Given the description of an element on the screen output the (x, y) to click on. 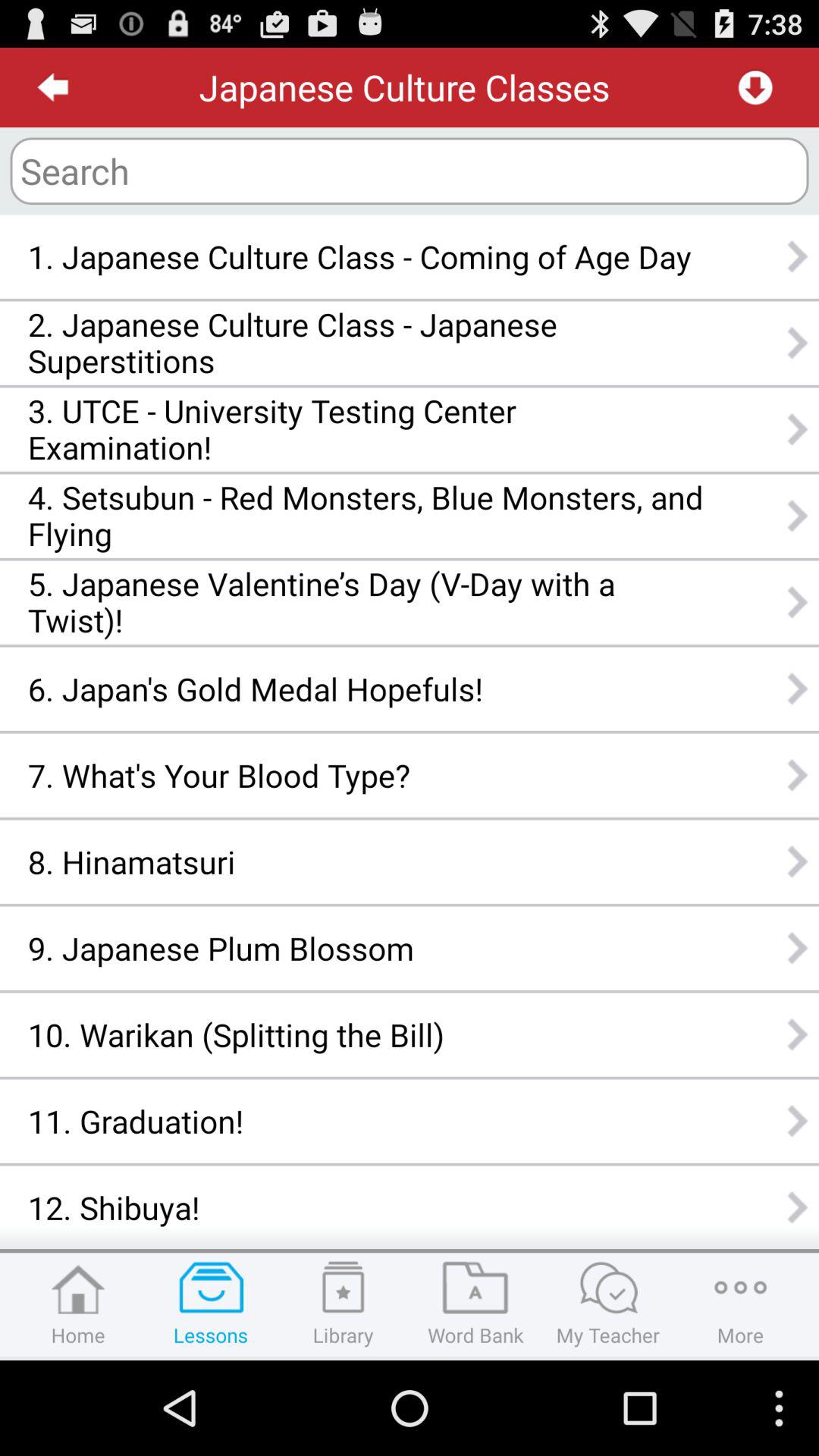
click on the search bar (409, 171)
go to right of fourth option (798, 515)
click on the first foreword arrow mark (798, 256)
select sixth next button which is after japans gold medal hopefuls (798, 688)
